Given the description of an element on the screen output the (x, y) to click on. 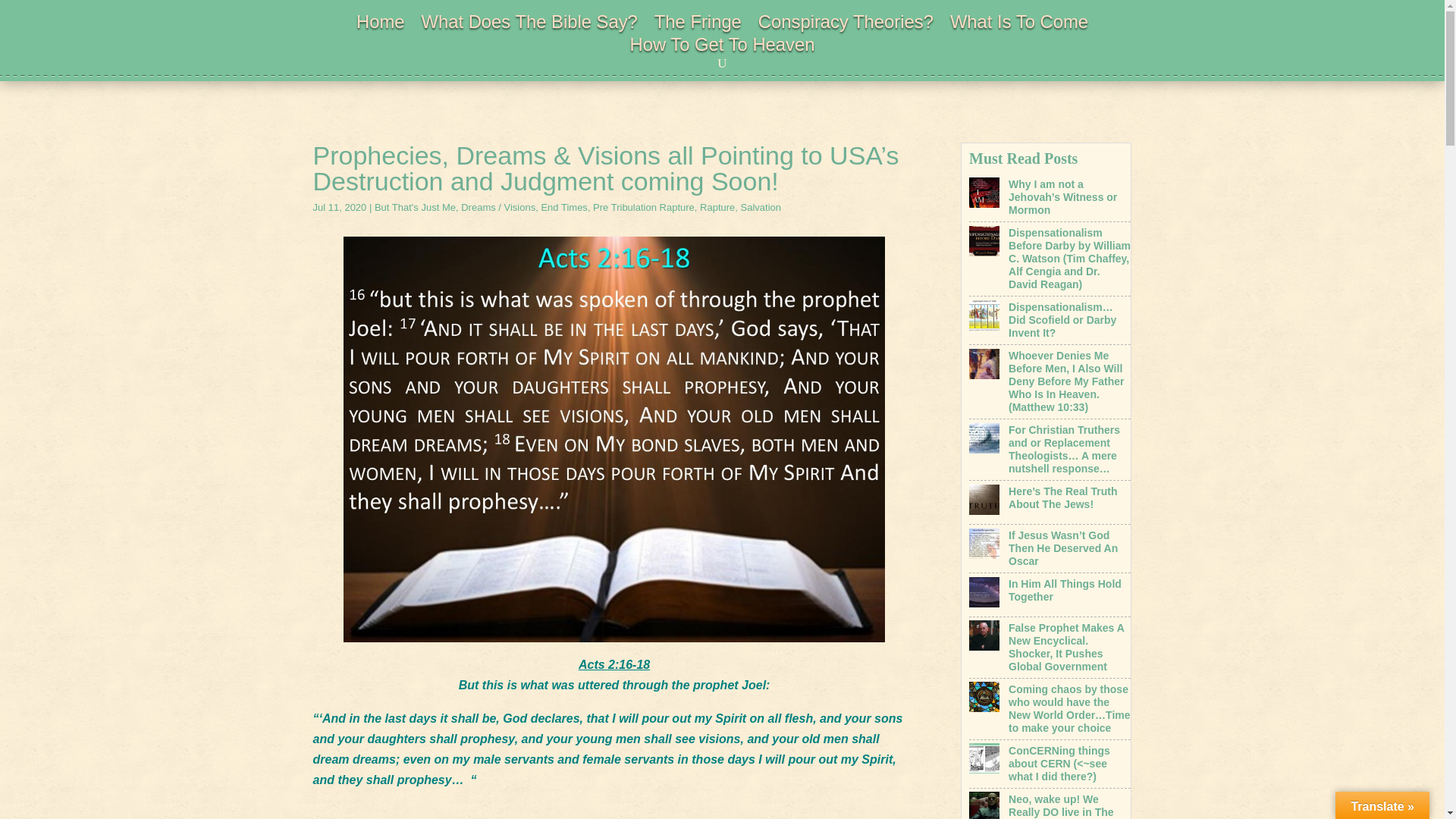
End Times (563, 206)
The Fringe (697, 24)
But That's Just Me (414, 206)
What Does The Bible Say? (529, 24)
Salvation (760, 206)
Rapture (717, 206)
Conspiracy Theories? (845, 24)
Home (380, 24)
How To Get To Heaven (722, 47)
Pre Tribulation Rapture (643, 206)
Acts 2:16-18 (613, 664)
What Is To Come (1018, 24)
